Given the description of an element on the screen output the (x, y) to click on. 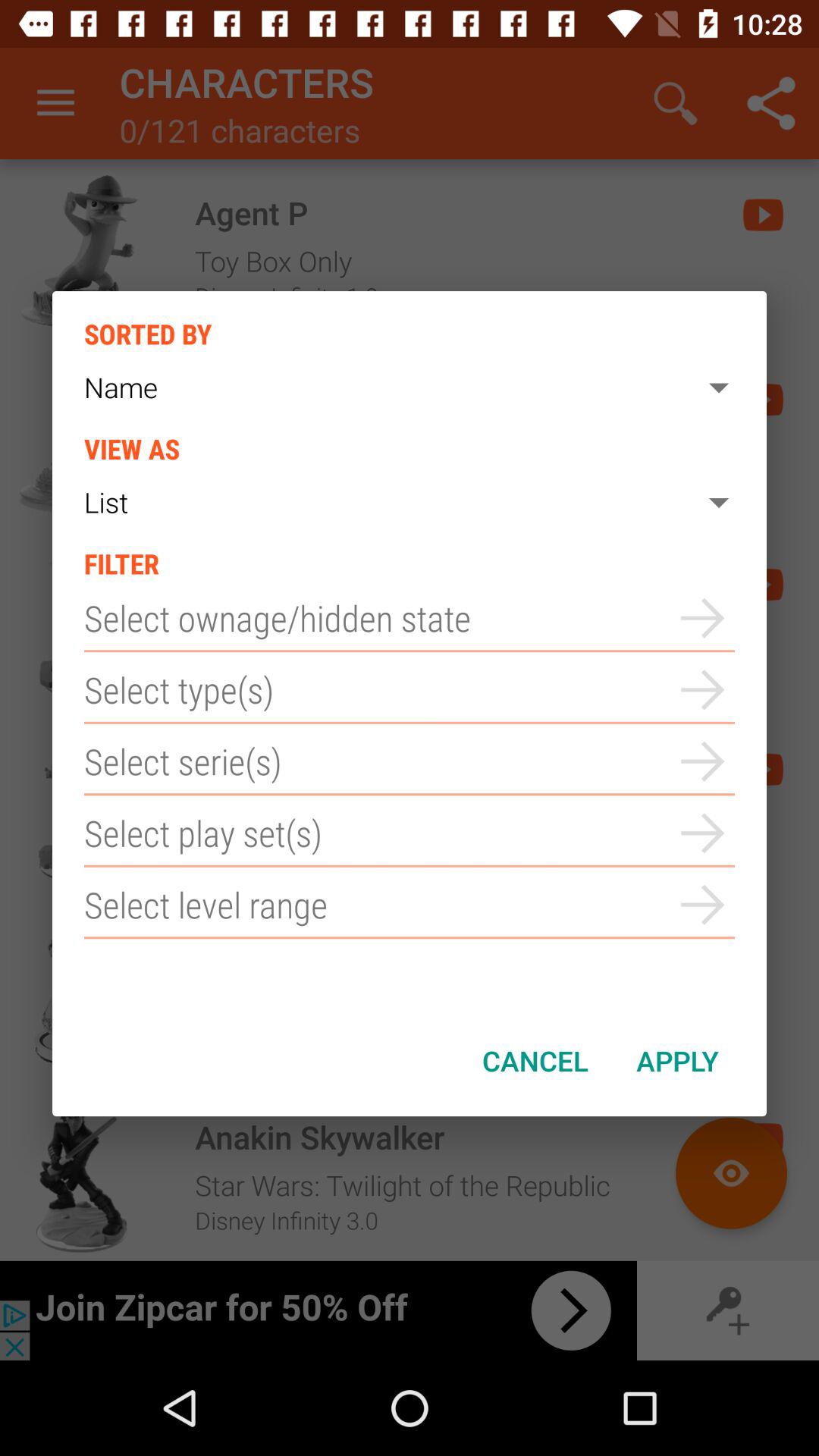
search box (409, 833)
